Given the description of an element on the screen output the (x, y) to click on. 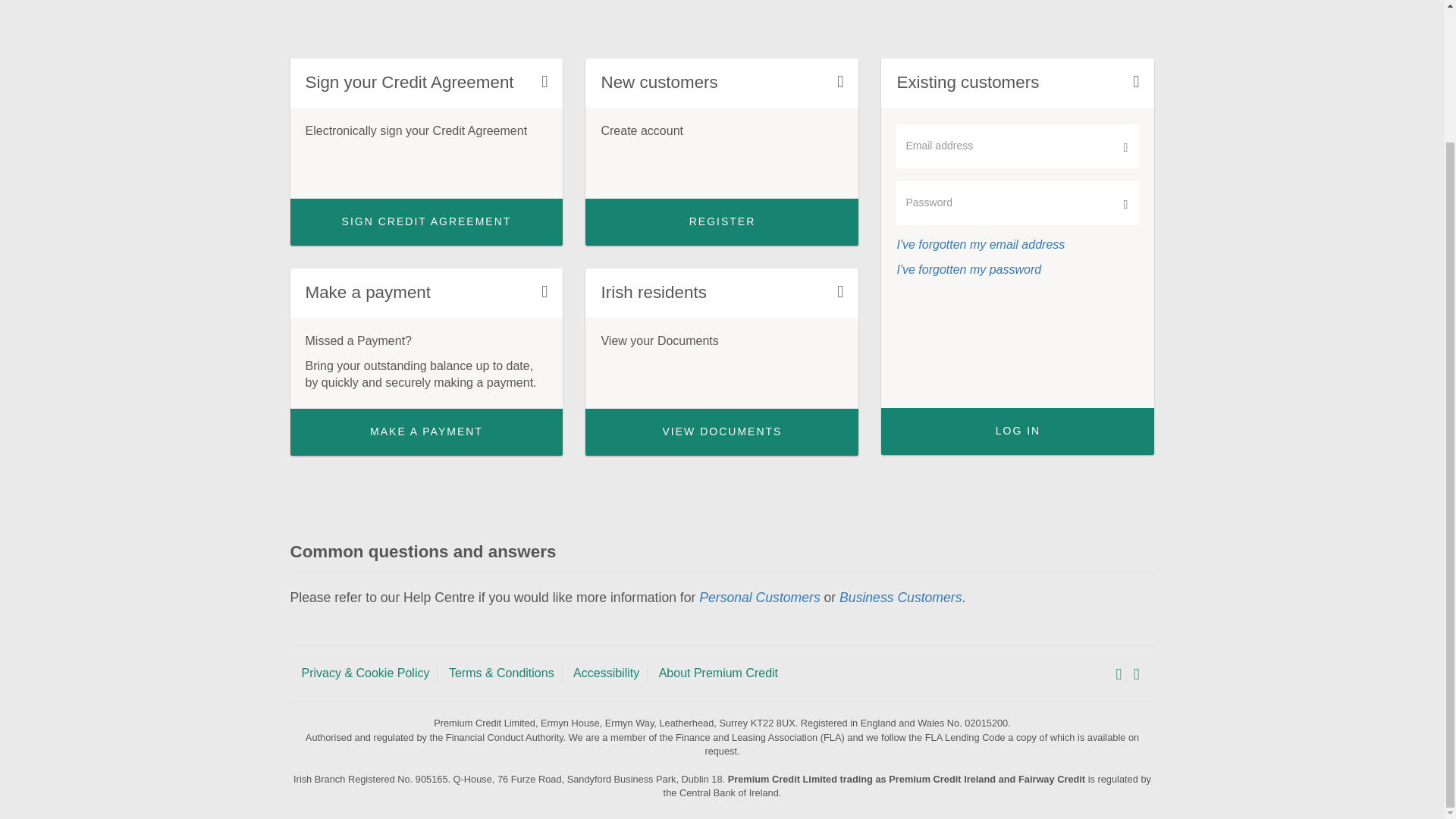
Log In (1017, 431)
Accessibility (606, 672)
VIEW DOCUMENTS (722, 431)
REGISTER (722, 222)
I've forgotten my email address (980, 244)
Business Customers (900, 597)
Personal Customers (758, 597)
Log In (1017, 431)
I've forgotten my password (968, 269)
About Premium Credit (718, 672)
